Given the description of an element on the screen output the (x, y) to click on. 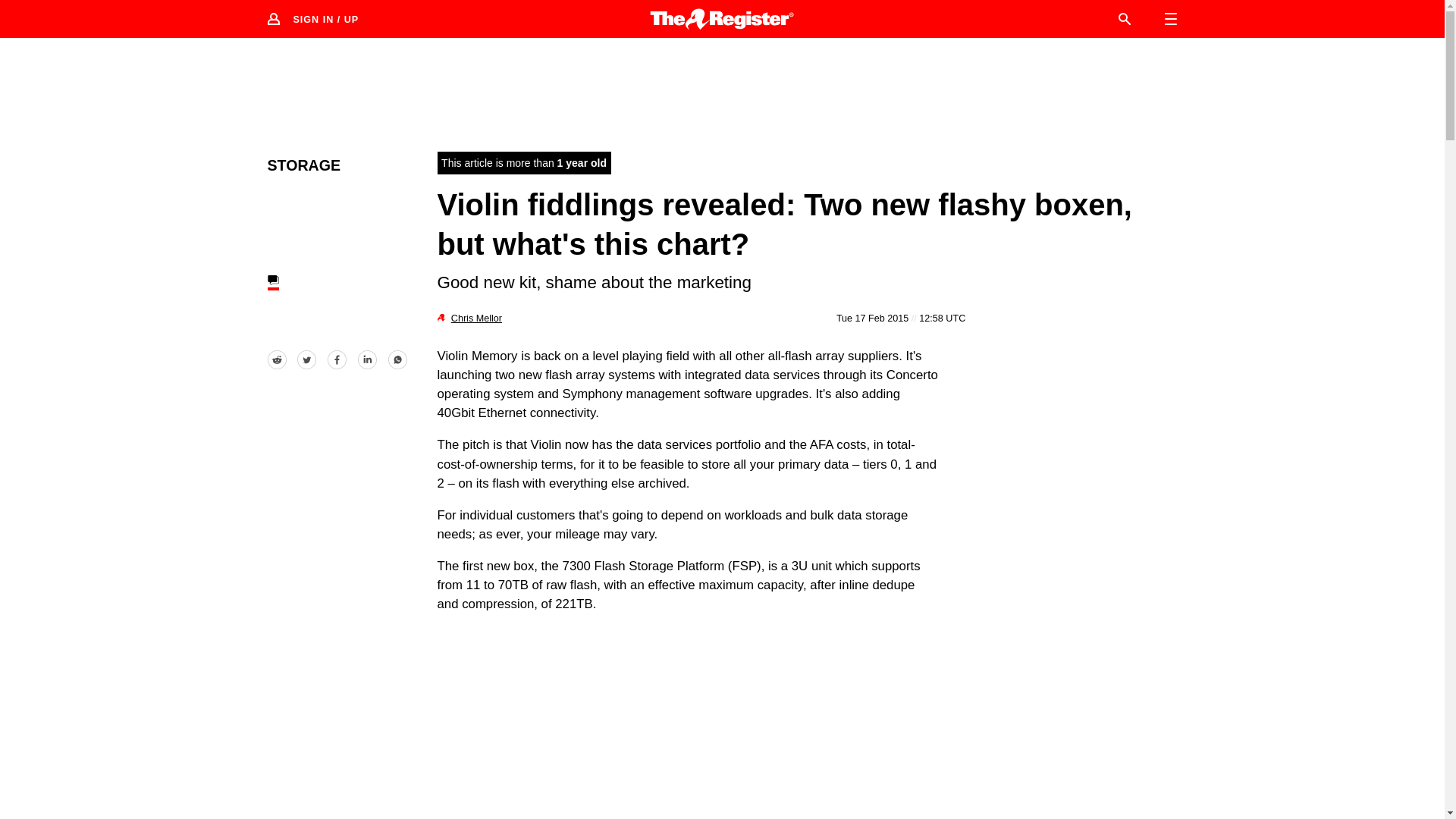
Read more by this author (476, 318)
